Given the description of an element on the screen output the (x, y) to click on. 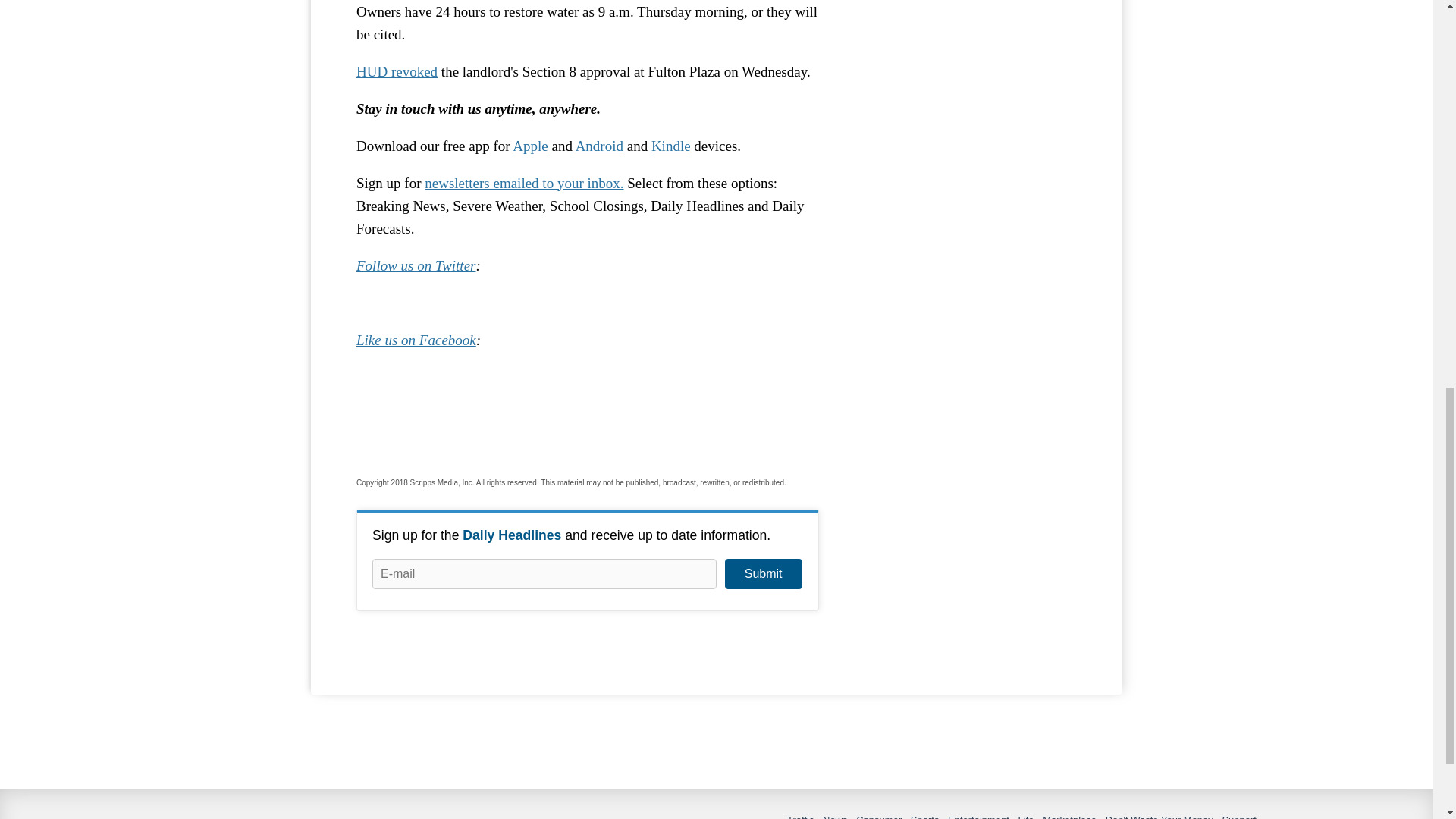
Submit (763, 573)
